Given the description of an element on the screen output the (x, y) to click on. 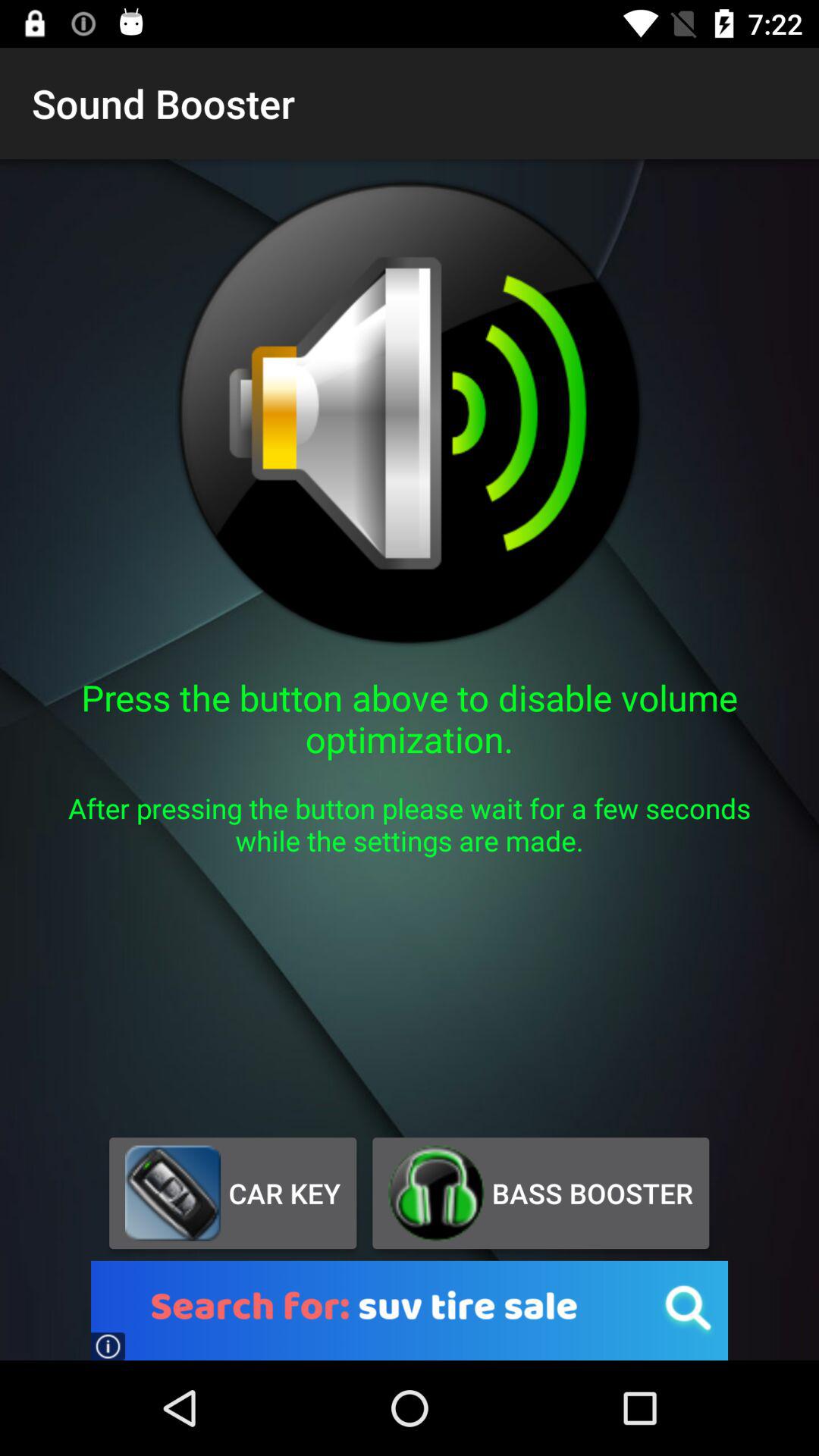
select app below after pressing the app (540, 1192)
